Given the description of an element on the screen output the (x, y) to click on. 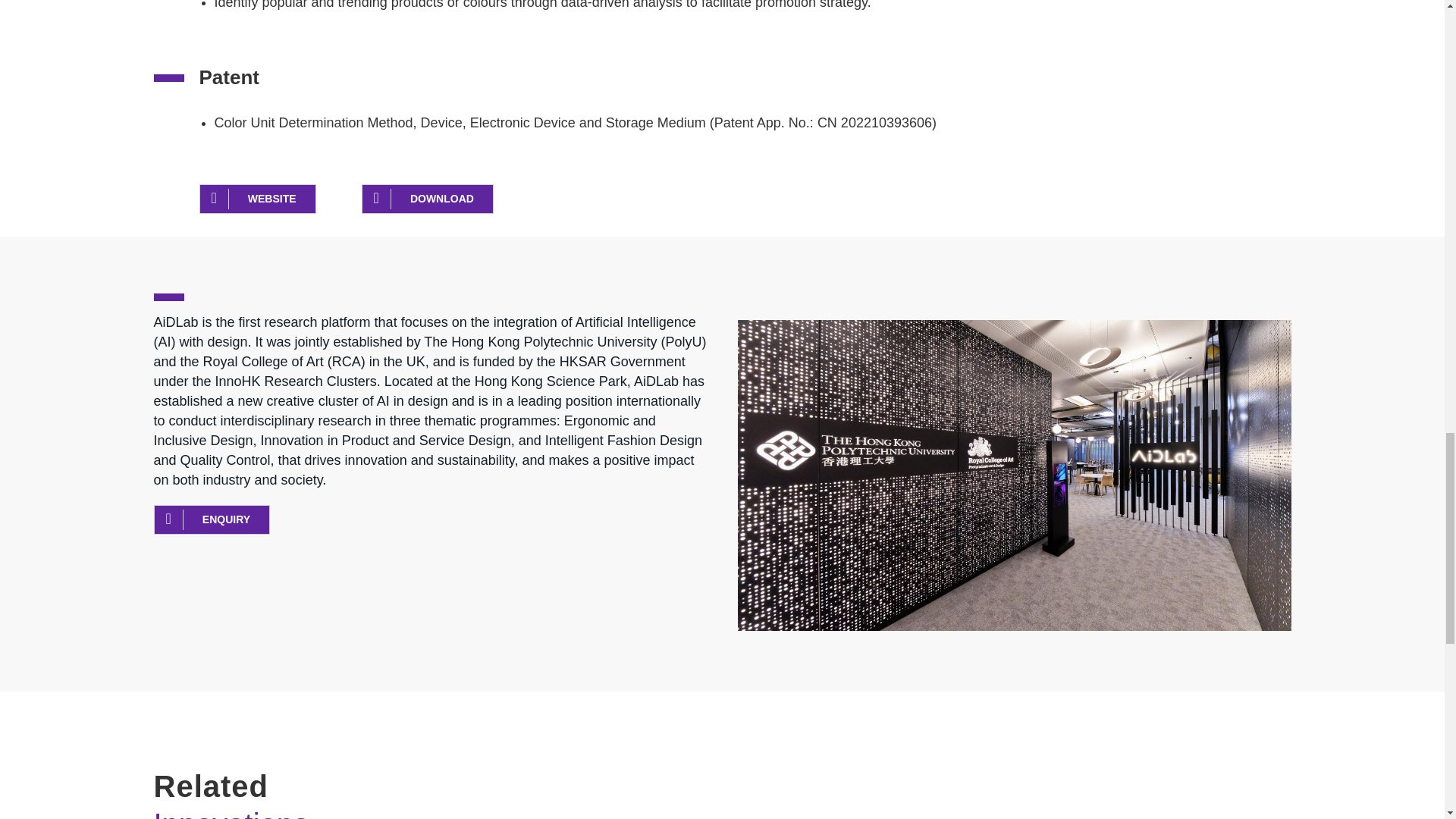
ENQUIRY (210, 519)
DOWNLOAD (427, 198)
WEBSITE (256, 198)
